Given the description of an element on the screen output the (x, y) to click on. 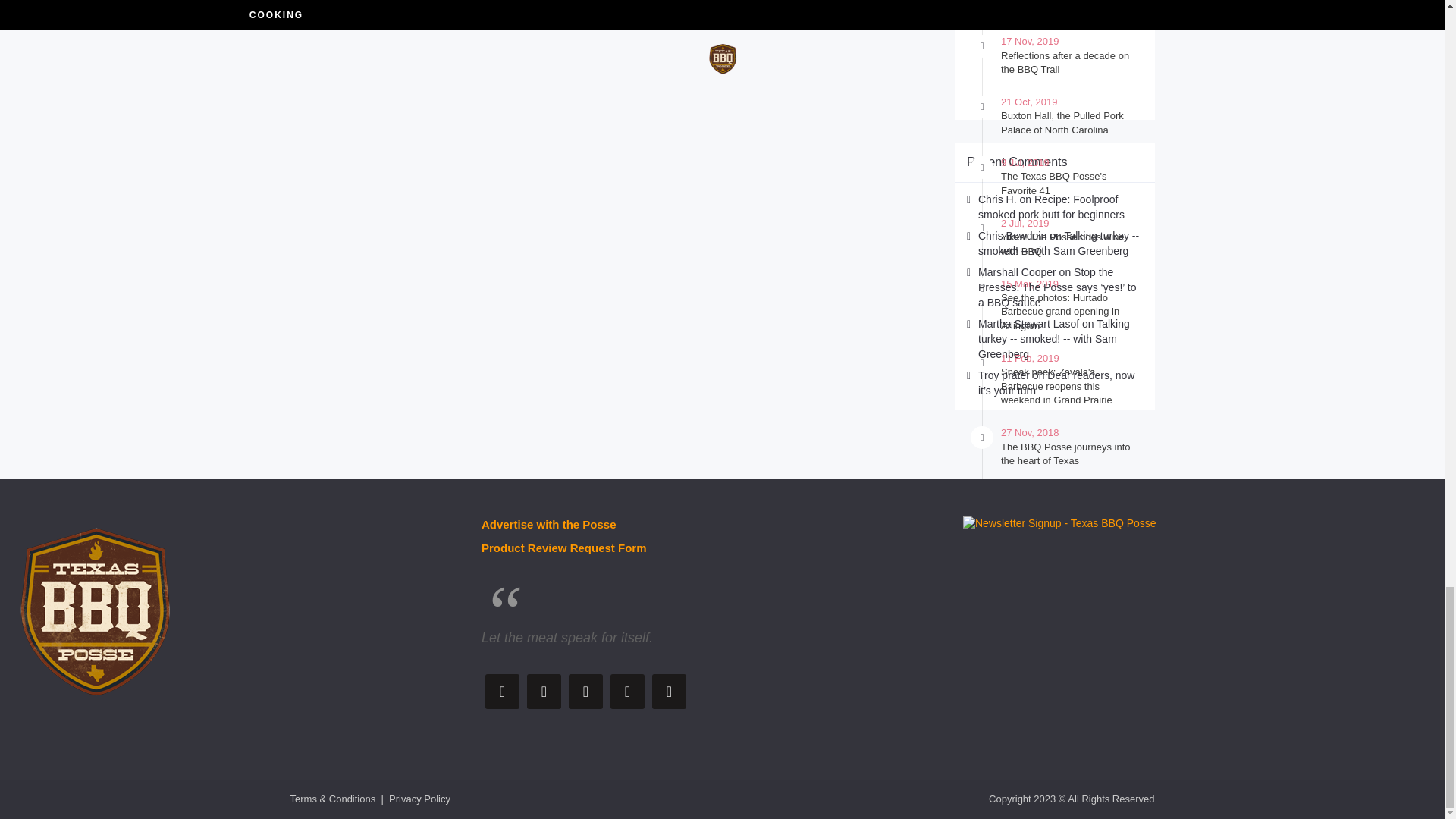
on Instagram (627, 691)
on twitter (501, 691)
on facebook (543, 691)
on YouTube (585, 691)
